Given the description of an element on the screen output the (x, y) to click on. 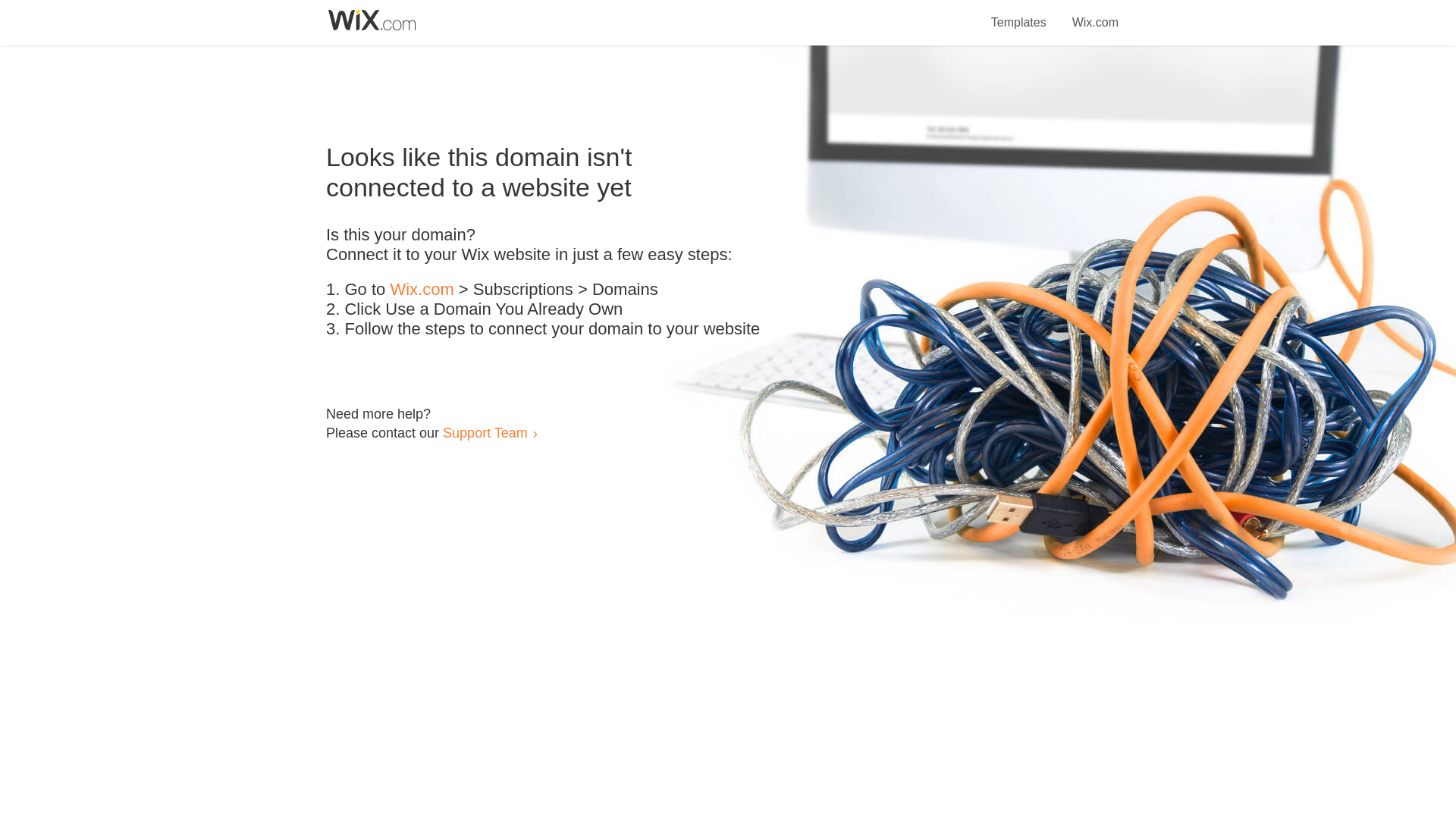
Wix.com (421, 289)
Templates (1018, 14)
Support Team (484, 432)
Wix.com (1095, 14)
